Given the description of an element on the screen output the (x, y) to click on. 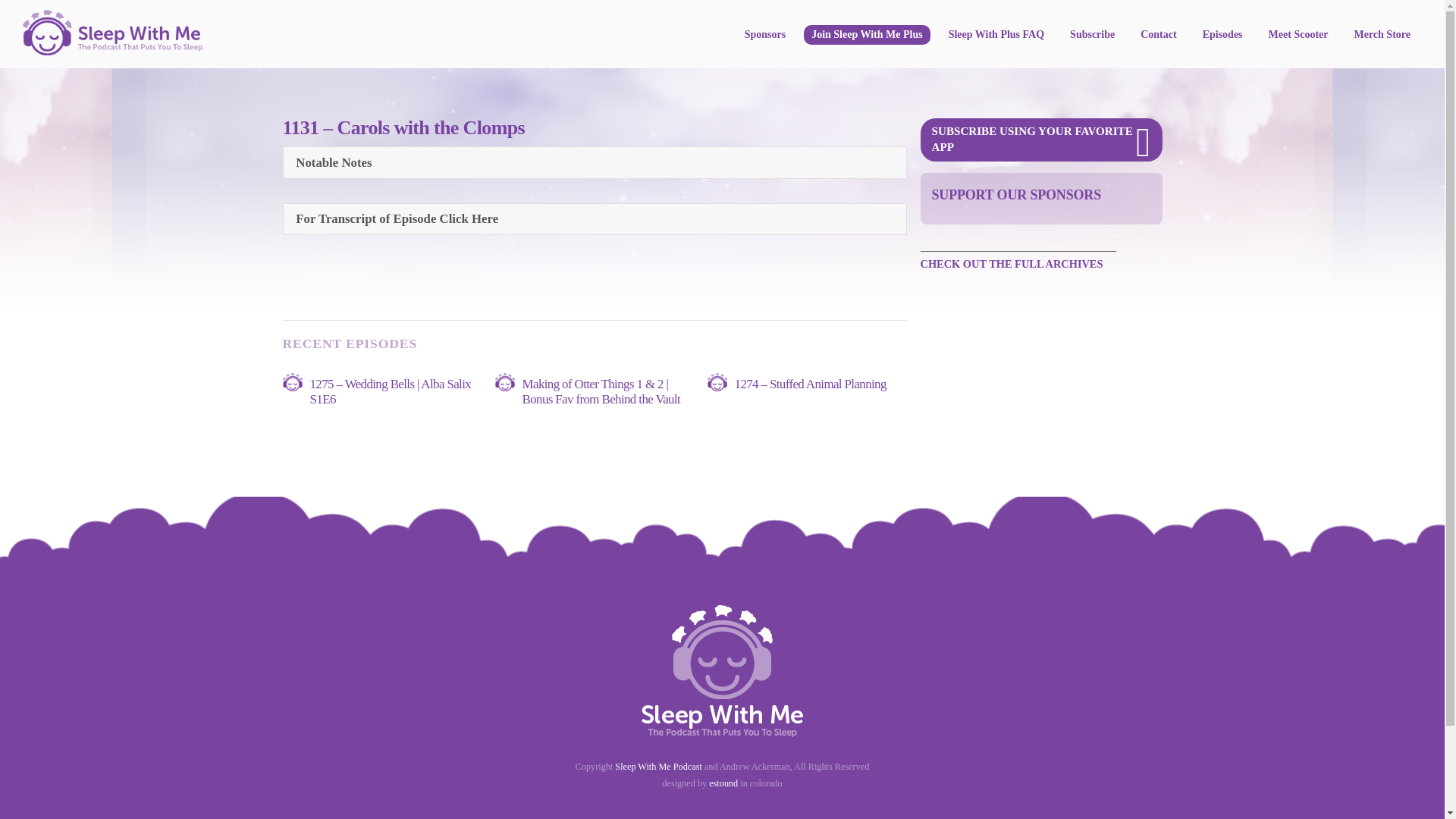
Contact (1157, 35)
Episodes (1222, 35)
Sleep With Me (112, 32)
Meet Scooter (1298, 35)
Merch Store (1381, 35)
estound (723, 783)
Sleep With Me (722, 730)
Sleep With Me (112, 48)
Notable Notes (595, 162)
CHECK OUT THE FULL ARCHIVES (1018, 263)
Sponsors (764, 35)
Join Sleep With Me Plus (866, 35)
Sleep With Plus FAQ (995, 35)
Sleep With Me Podcast (657, 766)
Subscribe (1092, 35)
